Given the description of an element on the screen output the (x, y) to click on. 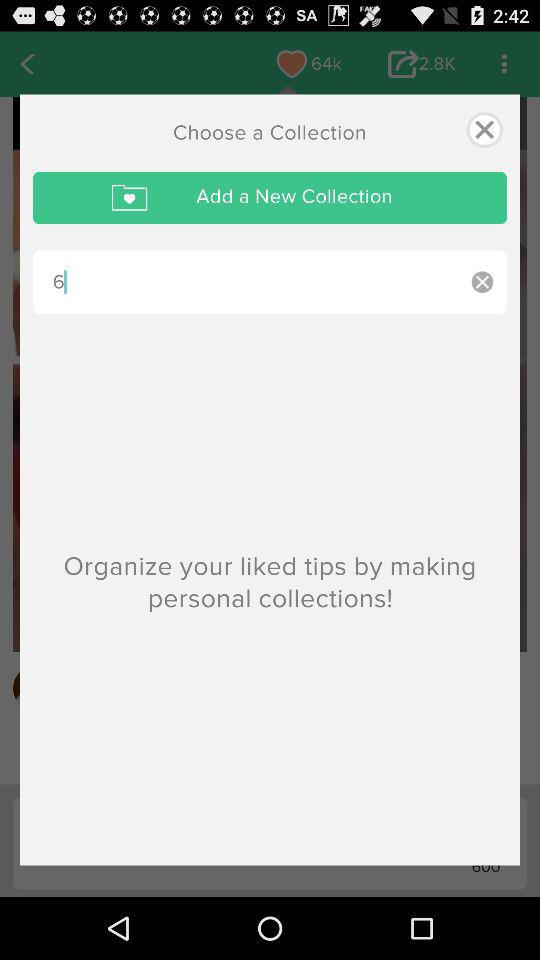
choose item above organize your liked (245, 281)
